Given the description of an element on the screen output the (x, y) to click on. 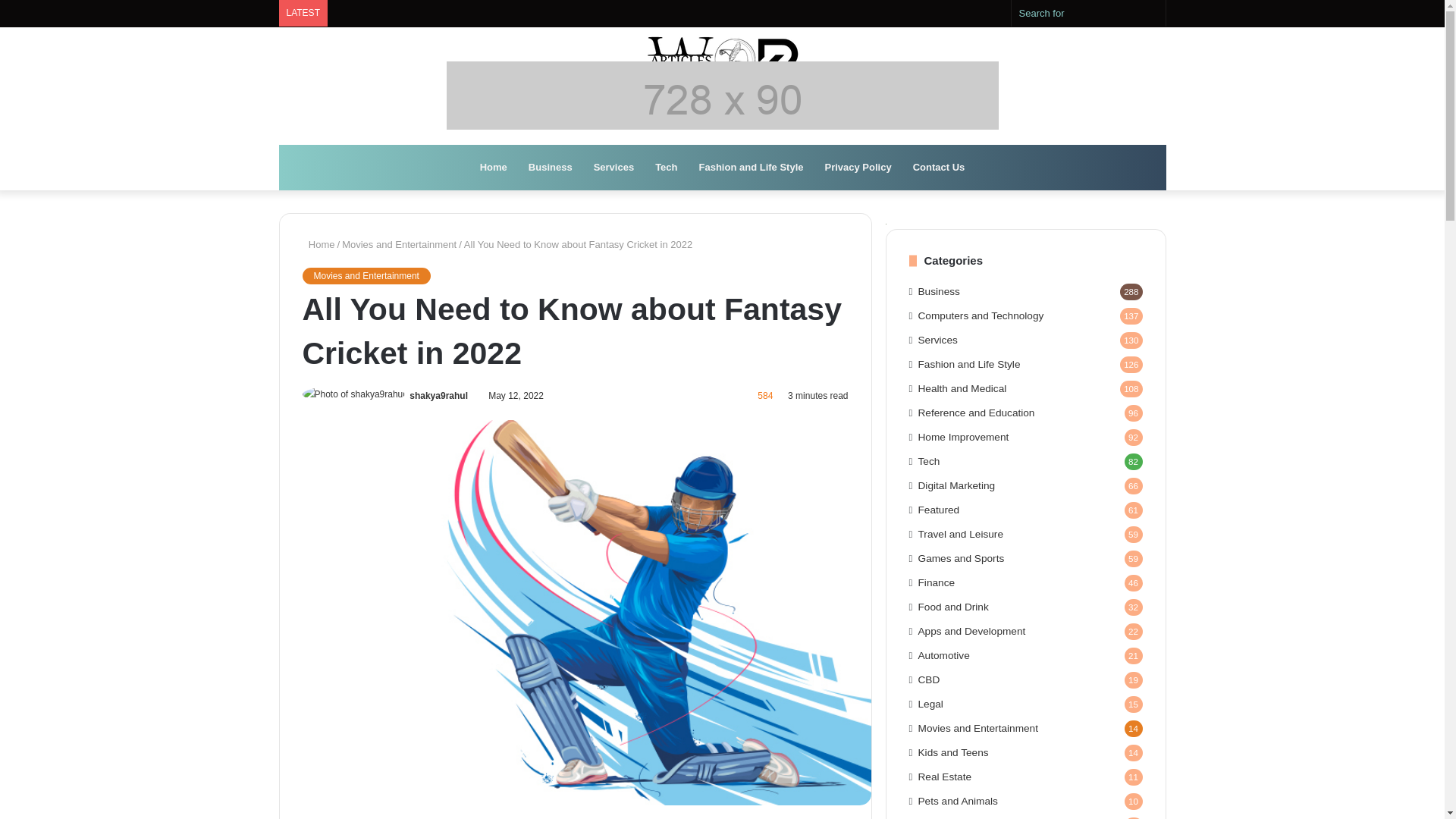
Home (317, 244)
Articles Work (721, 59)
Movies and Entertainment (399, 244)
Search for (1149, 13)
Movies and Entertainment (365, 275)
Privacy Policy (857, 167)
shakya9rahul (438, 395)
Search for (1088, 13)
Tech (666, 167)
shakya9rahul (438, 395)
